Given the description of an element on the screen output the (x, y) to click on. 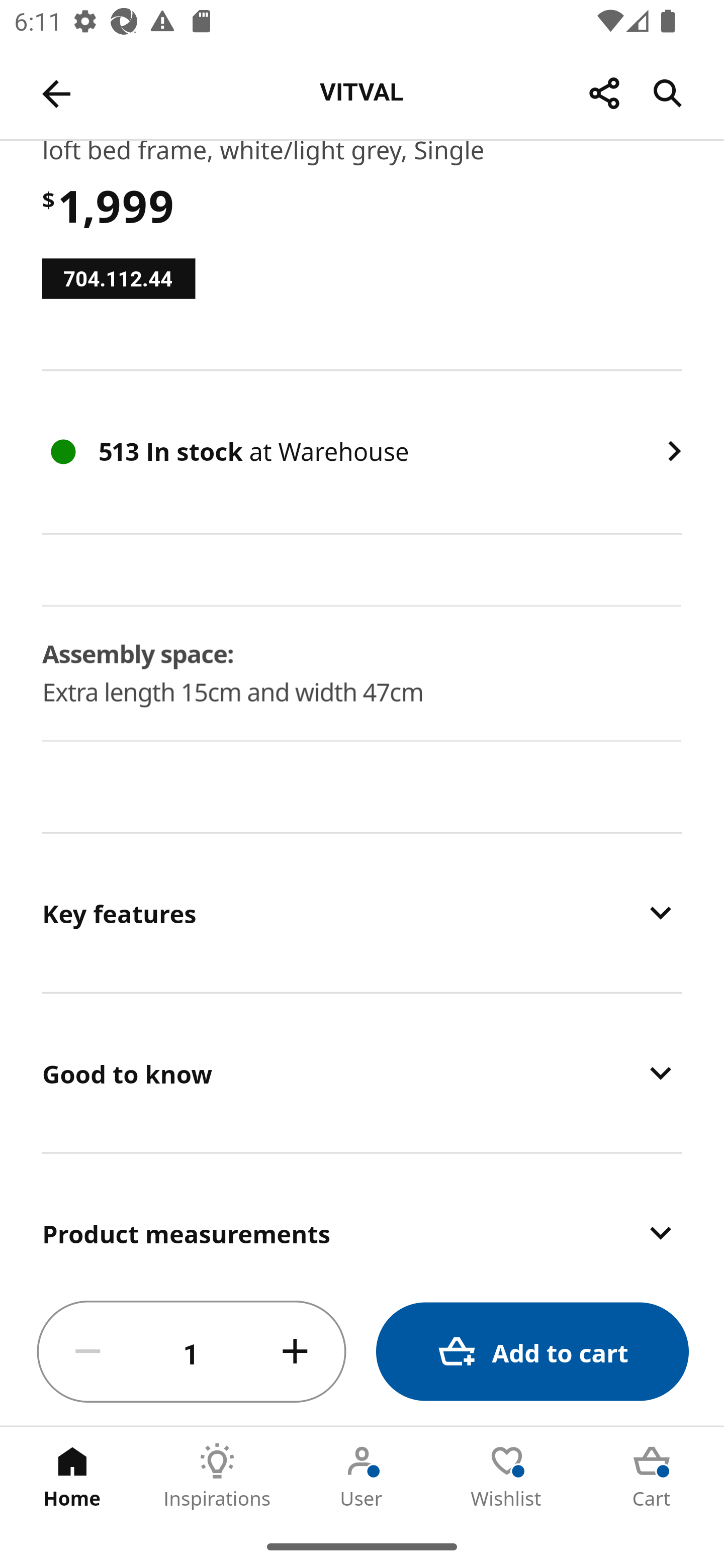
513 In stock at Warehouse (361, 452)
Key features (361, 912)
Good to know (361, 1072)
Product measurements (361, 1216)
Add to cart (531, 1352)
1 (191, 1352)
Home
Tab 1 of 5 (72, 1476)
Inspirations
Tab 2 of 5 (216, 1476)
User
Tab 3 of 5 (361, 1476)
Wishlist
Tab 4 of 5 (506, 1476)
Cart
Tab 5 of 5 (651, 1476)
